Given the description of an element on the screen output the (x, y) to click on. 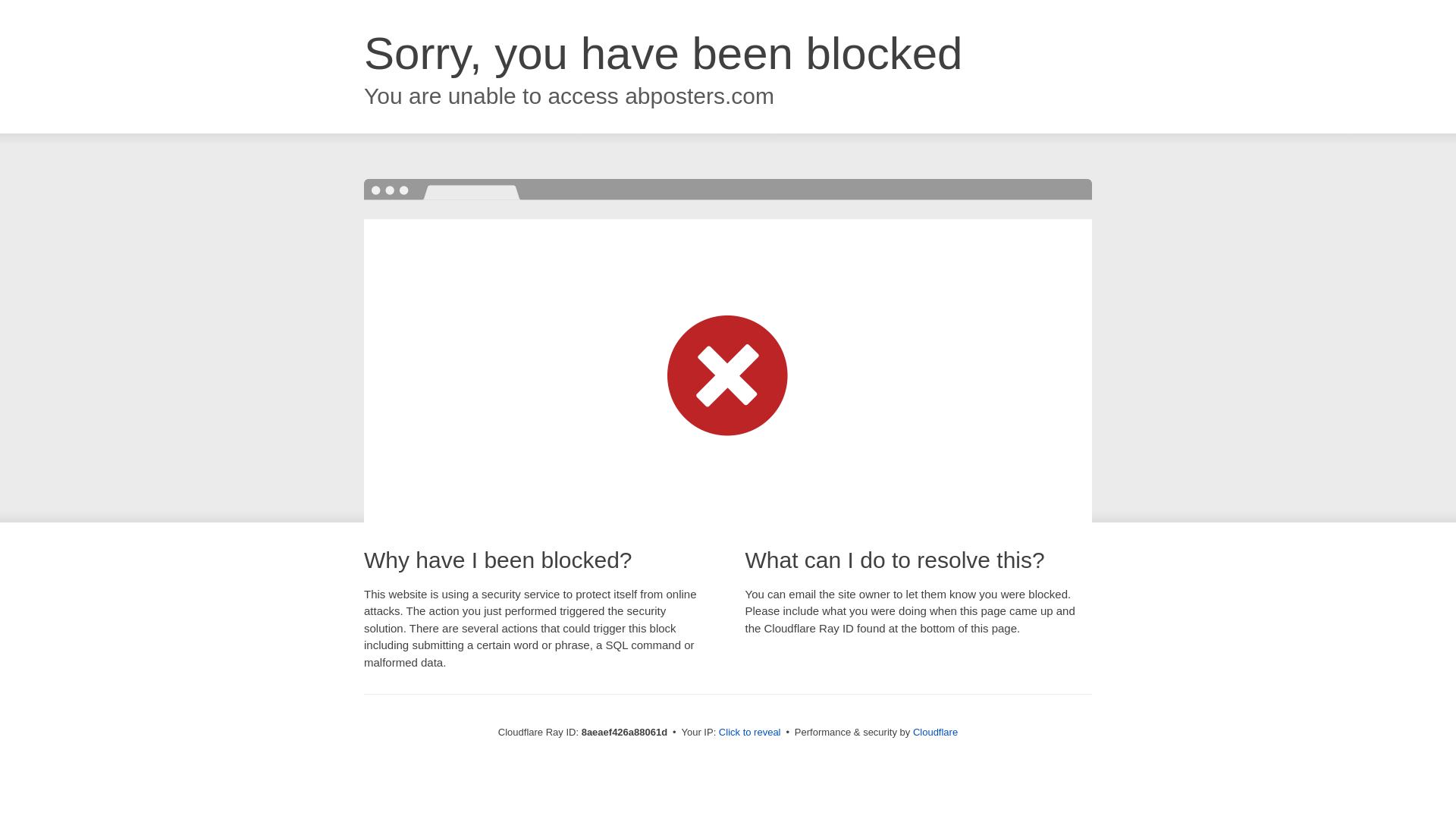
Cloudflare (935, 731)
Click to reveal (749, 732)
